Given the description of an element on the screen output the (x, y) to click on. 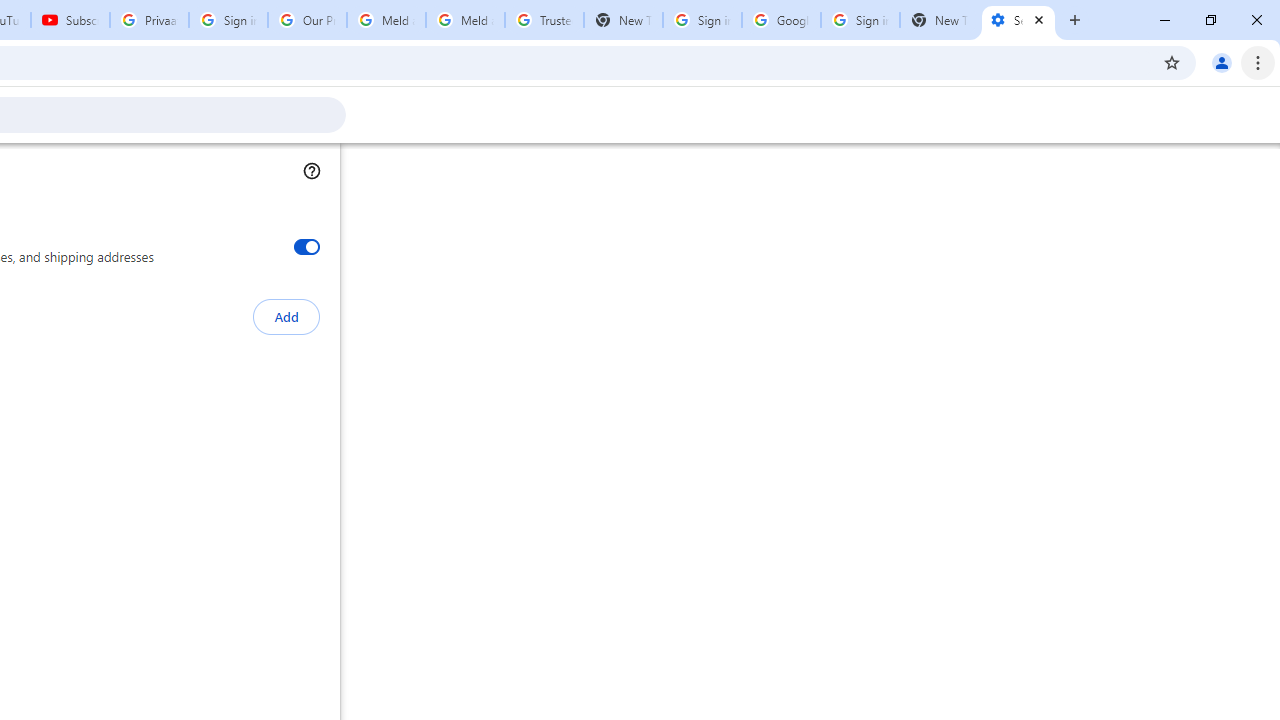
Sign in - Google Accounts (228, 20)
